Given the description of an element on the screen output the (x, y) to click on. 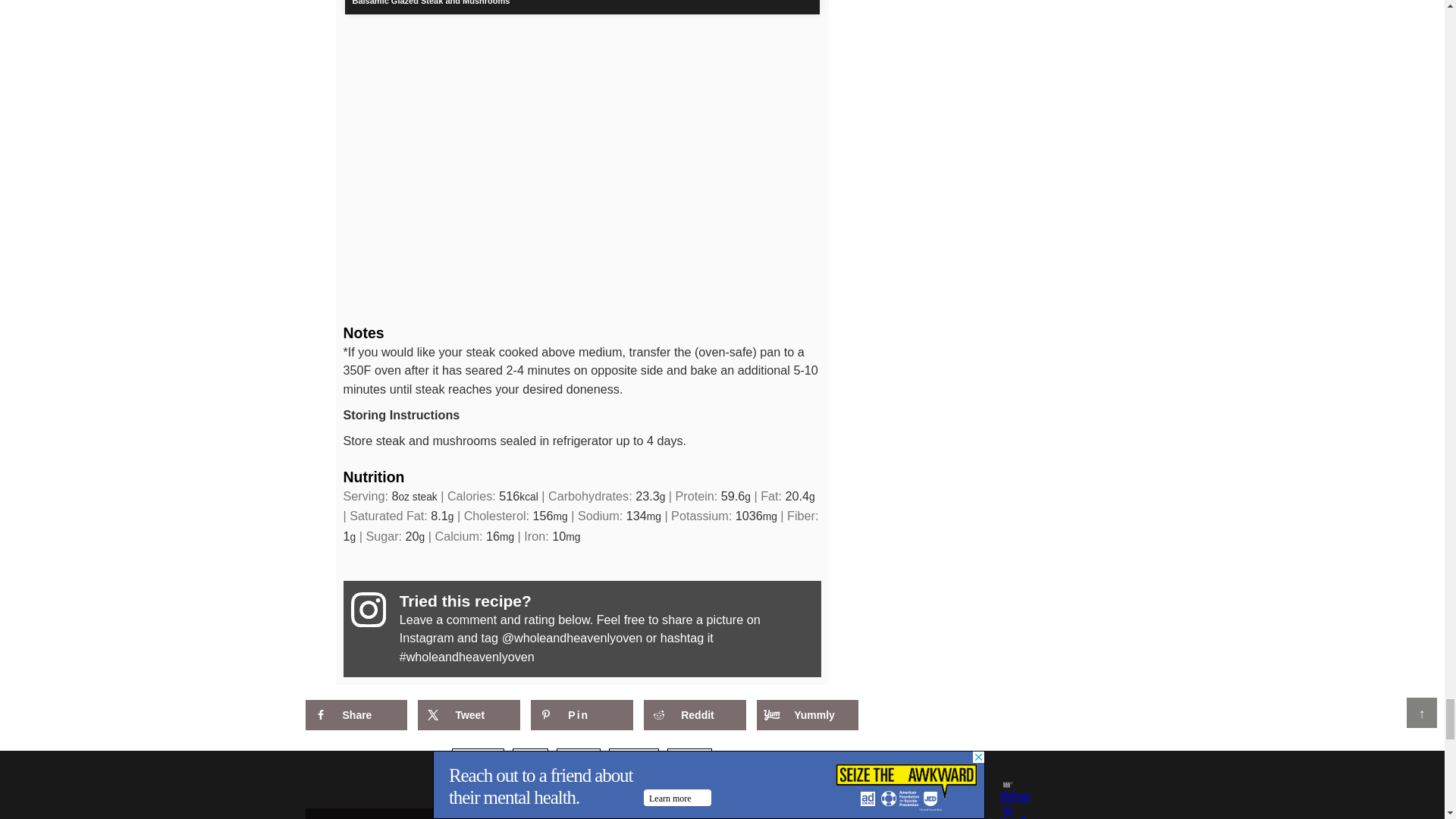
Share on Reddit (694, 715)
Share on Yummly (808, 715)
Share on Facebook (355, 715)
Share on X (468, 715)
Save to Pinterest (581, 715)
